Given the description of an element on the screen output the (x, y) to click on. 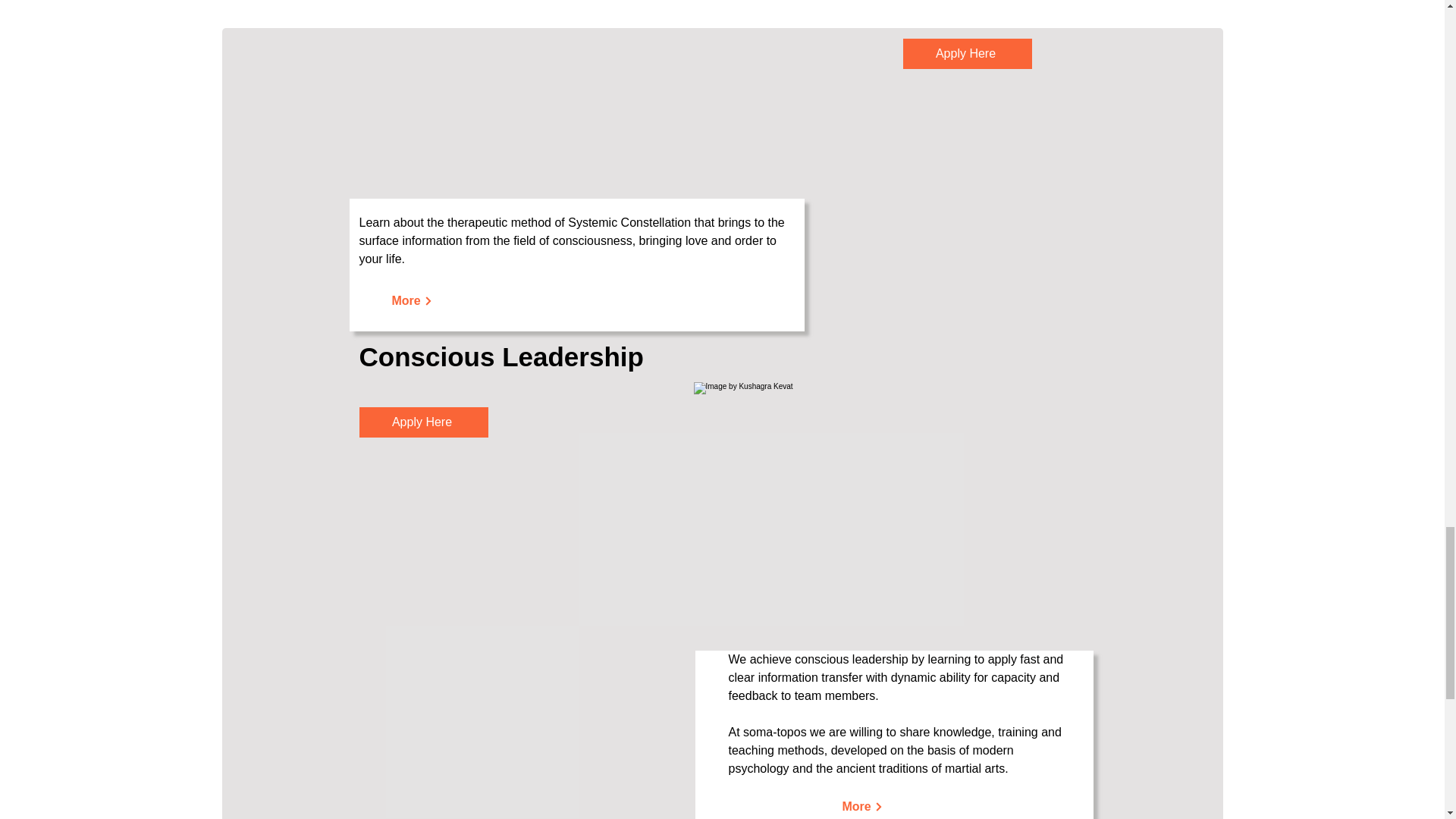
More (862, 805)
More (412, 300)
Apply Here (423, 422)
Apply Here (966, 53)
